Given the description of an element on the screen output the (x, y) to click on. 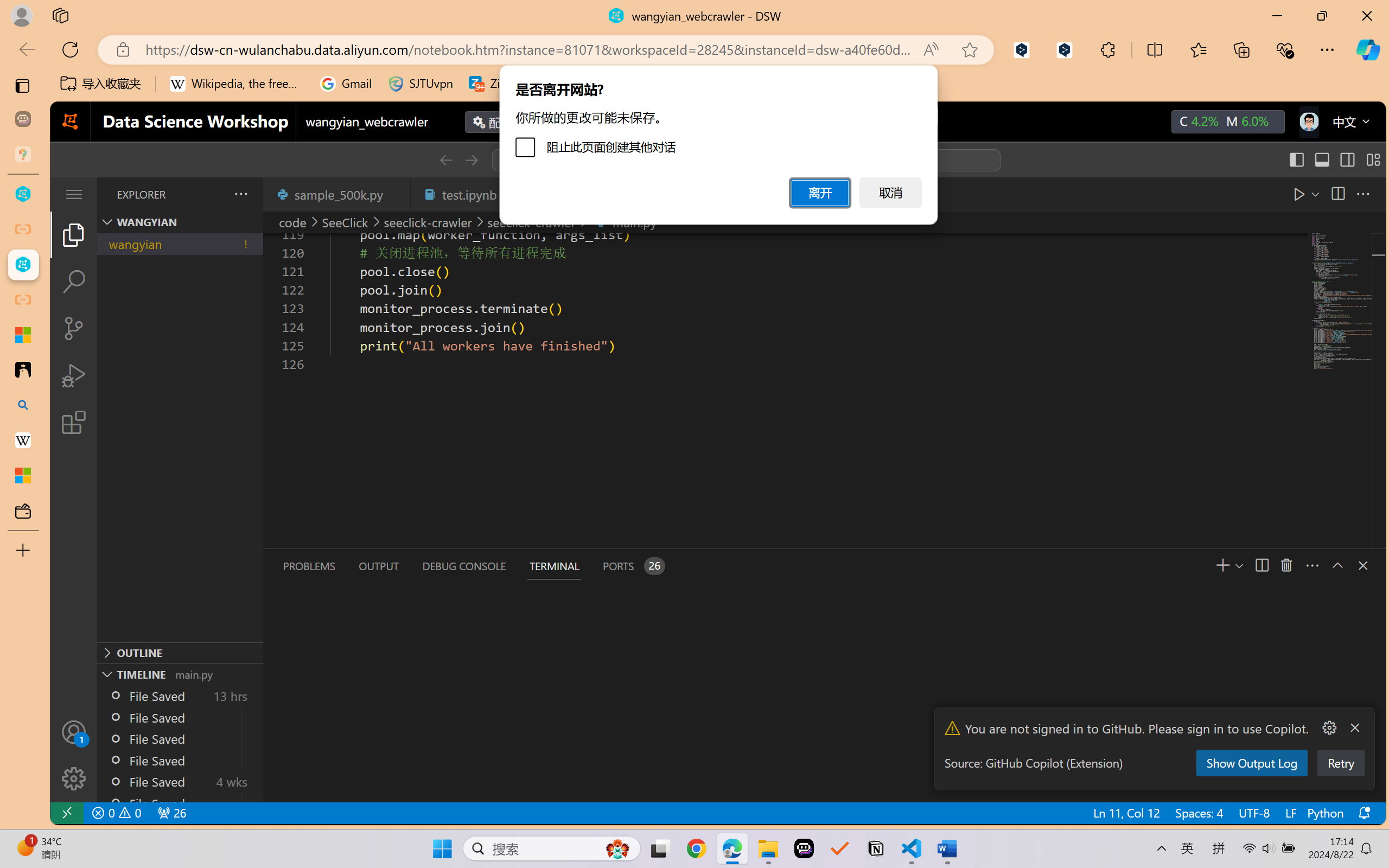
LF (1290, 812)
Retry (1339, 762)
Terminal (Ctrl+`) (553, 565)
Class: actions-container (1351, 565)
Title actions (1333, 159)
Toggle Panel (Ctrl+J) (1320, 159)
Adjust indents and spacing - Microsoft Support (22, 334)
Explorer actions (212, 194)
